Given the description of an element on the screen output the (x, y) to click on. 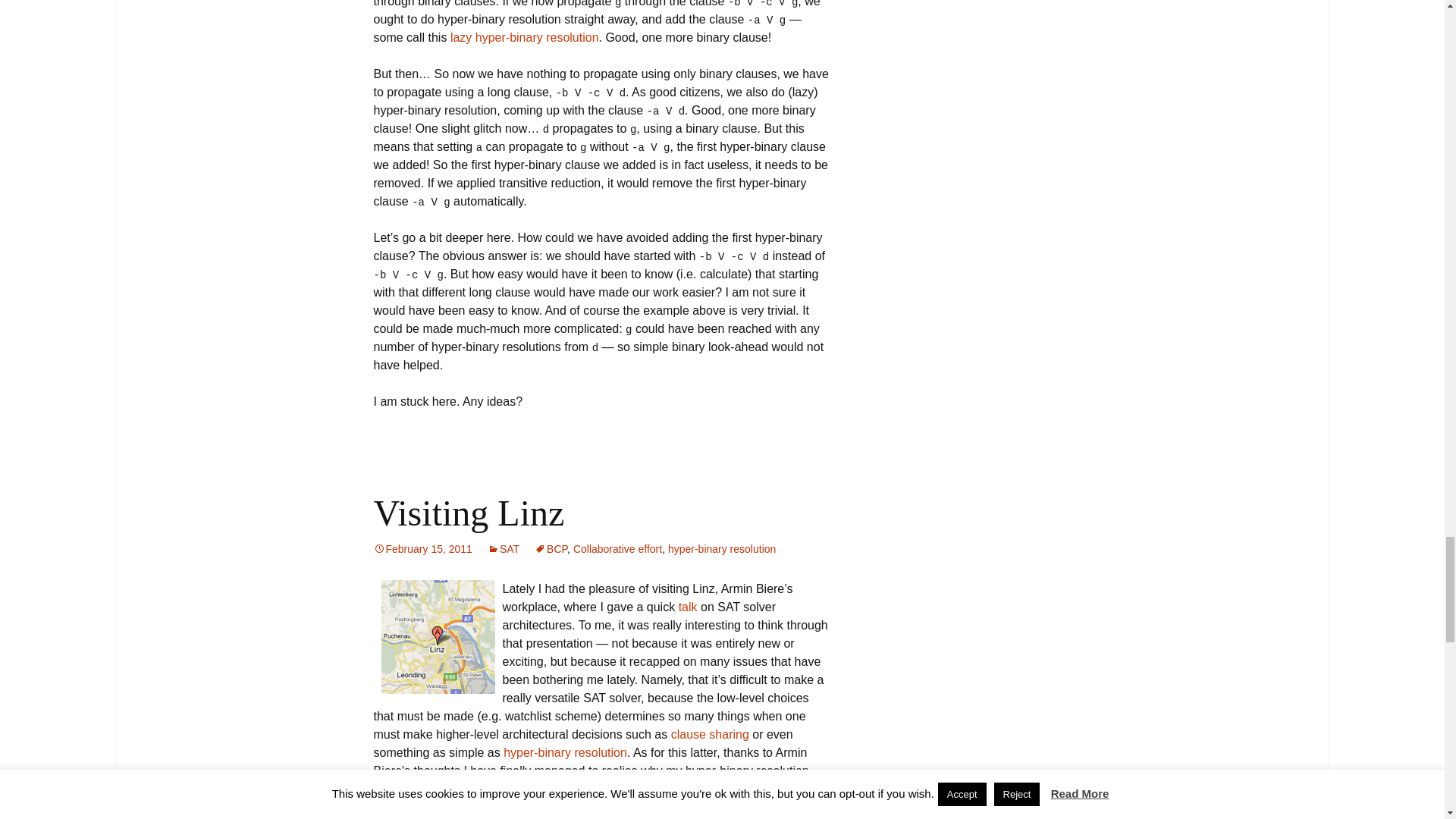
Linz (437, 636)
Permalink to Visiting Linz (421, 548)
